Given the description of an element on the screen output the (x, y) to click on. 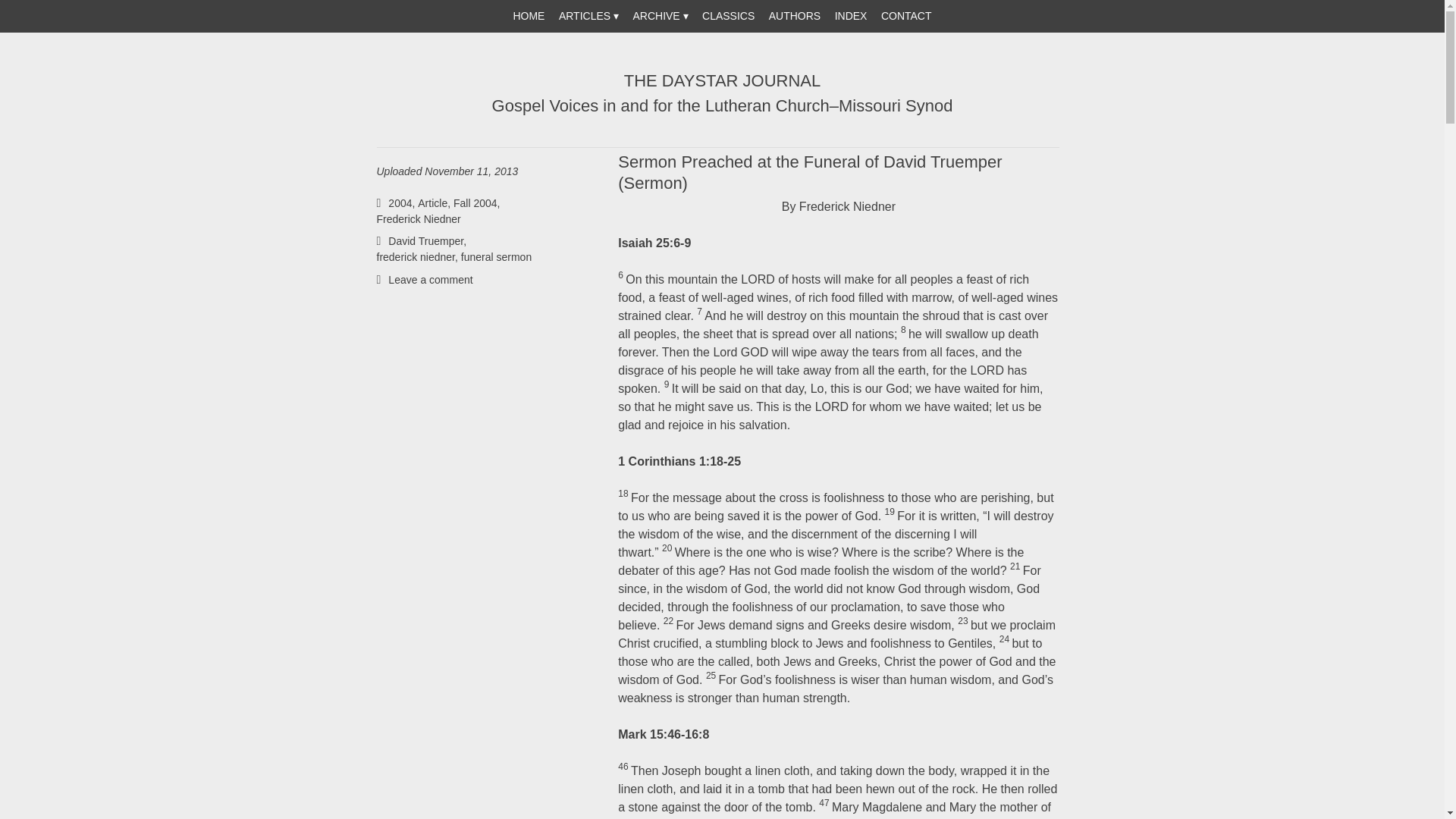
ARTICLES (588, 16)
ARCHIVE (660, 16)
The Daystar Journal (722, 80)
HOME (528, 16)
